Given the description of an element on the screen output the (x, y) to click on. 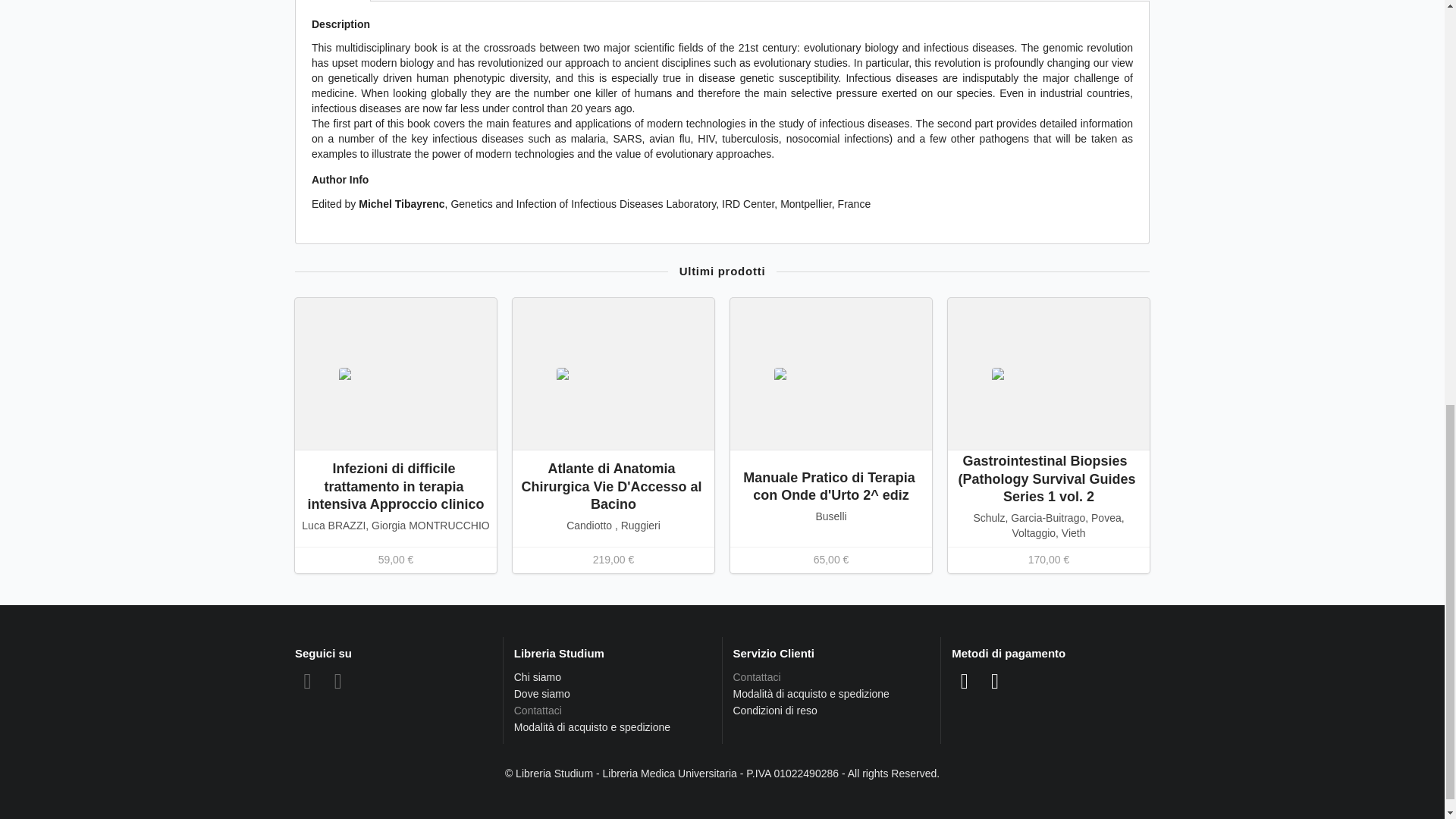
Contattaci (612, 710)
Indice (403, 0)
Contattaci (831, 677)
Bonifico Nancario (994, 681)
Contrassegno (964, 681)
Chi siamo (536, 676)
Dove siamo (541, 693)
Atlante di Anatomia Chirurgica Vie D'Accesso al Bacino (613, 486)
Dettagli (333, 0)
